Given the description of an element on the screen output the (x, y) to click on. 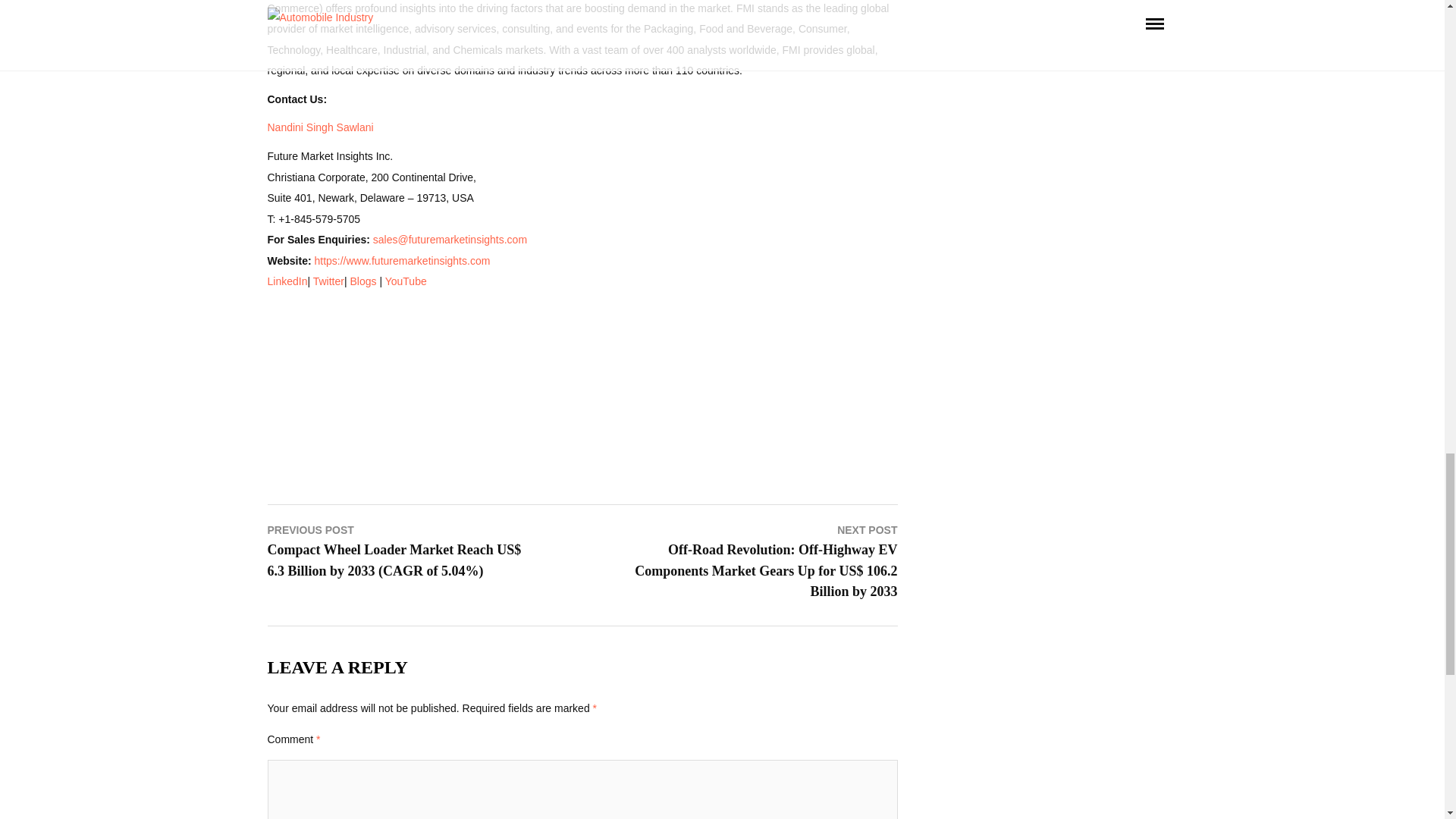
Blogs (362, 281)
YouTube (405, 281)
Nandini Singh Sawlani (319, 127)
Twitter (328, 281)
LinkedIn (286, 281)
